Given the description of an element on the screen output the (x, y) to click on. 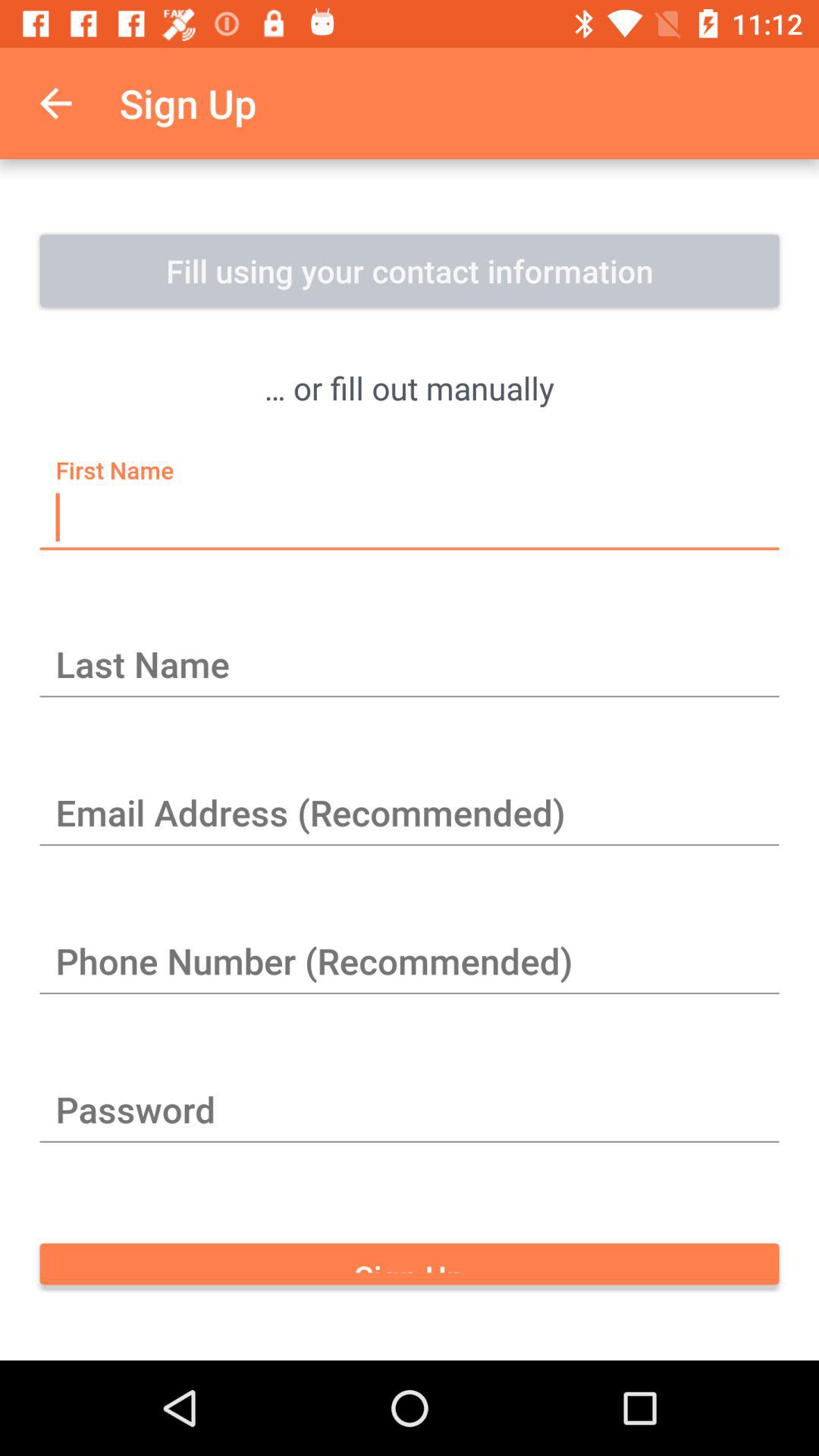
turn on the icon to the left of the sign up item (55, 103)
